Given the description of an element on the screen output the (x, y) to click on. 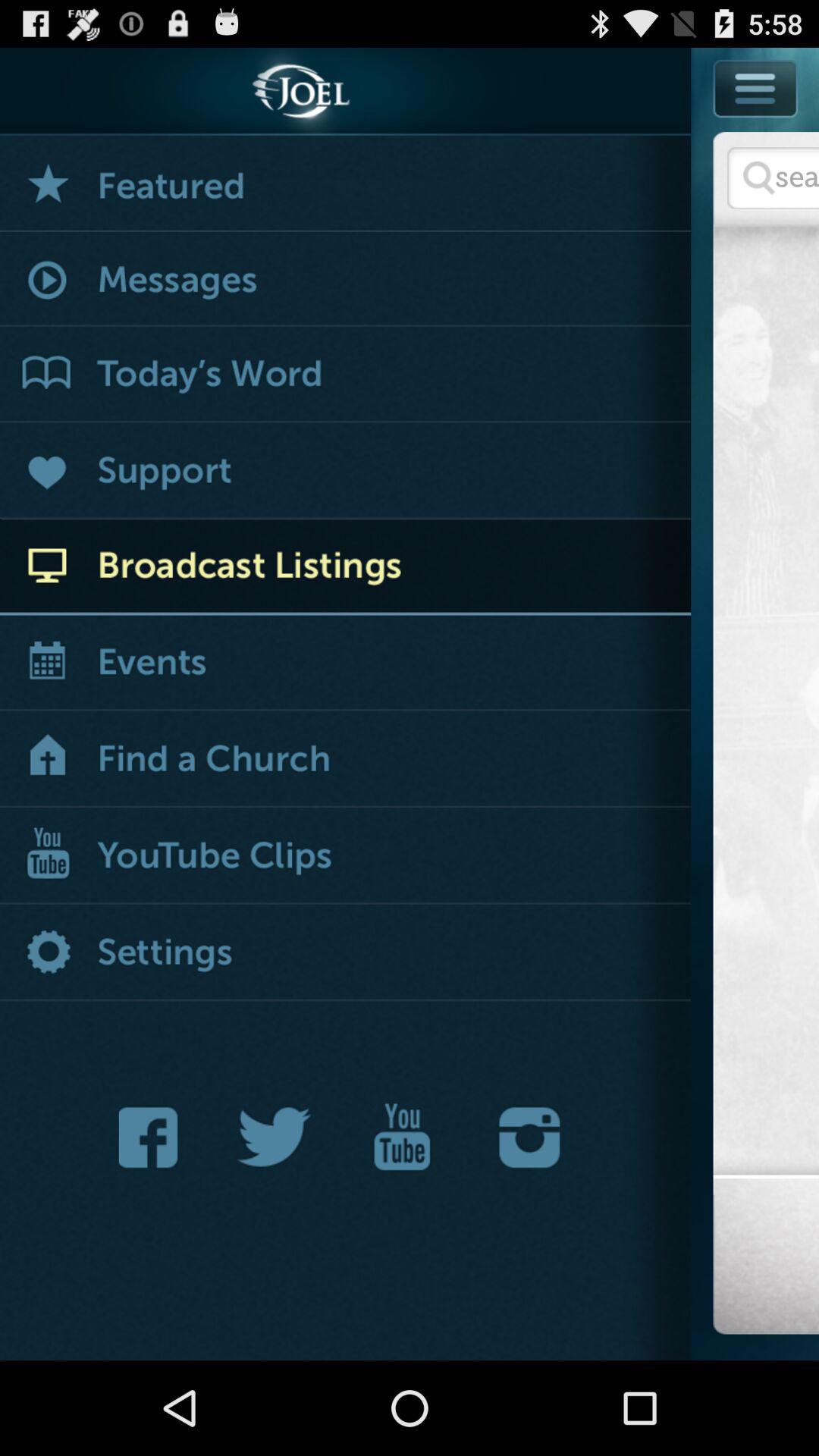
open joel 's youtube page (401, 1137)
